Given the description of an element on the screen output the (x, y) to click on. 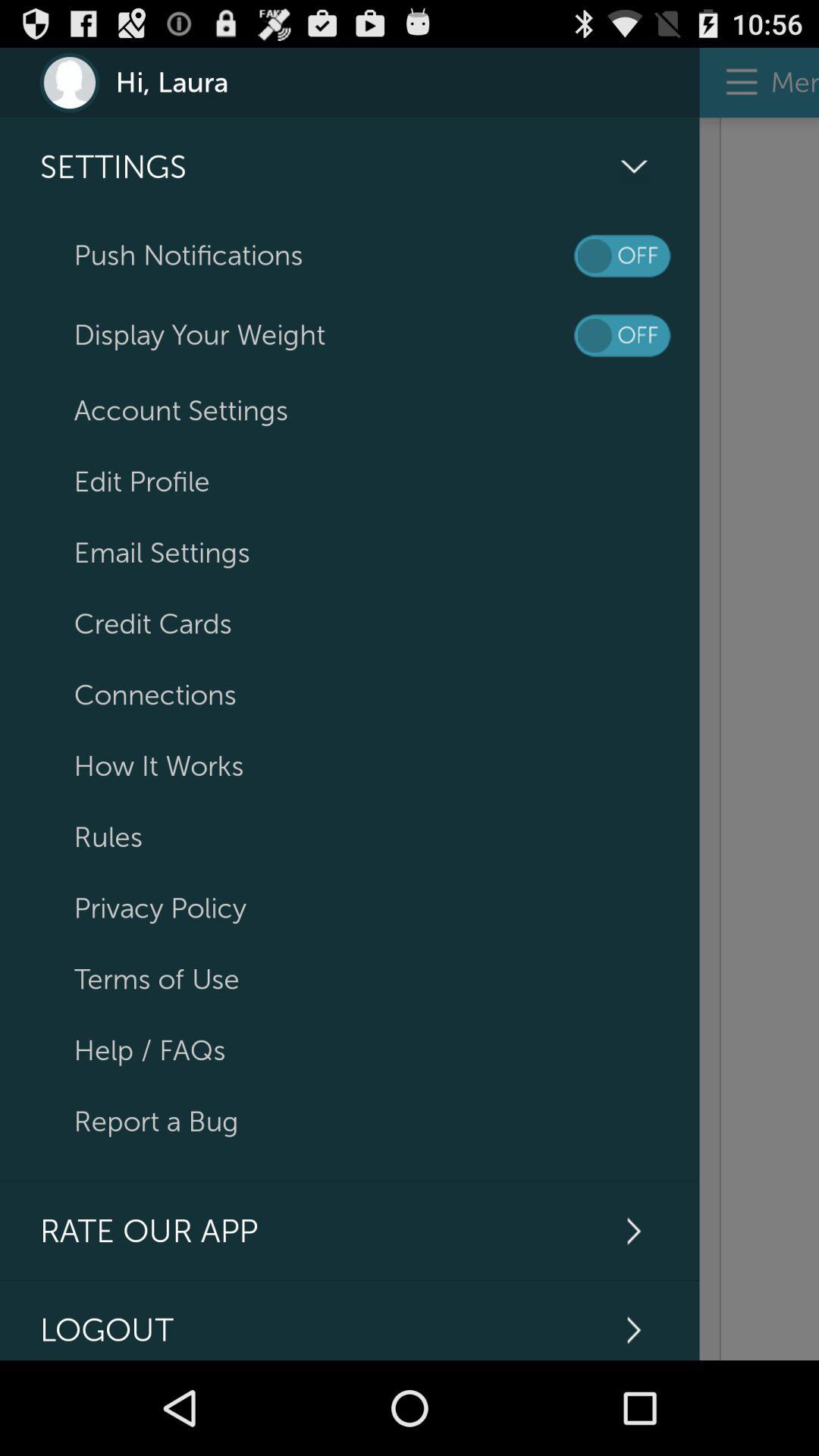
go to home page (759, 738)
